Given the description of an element on the screen output the (x, y) to click on. 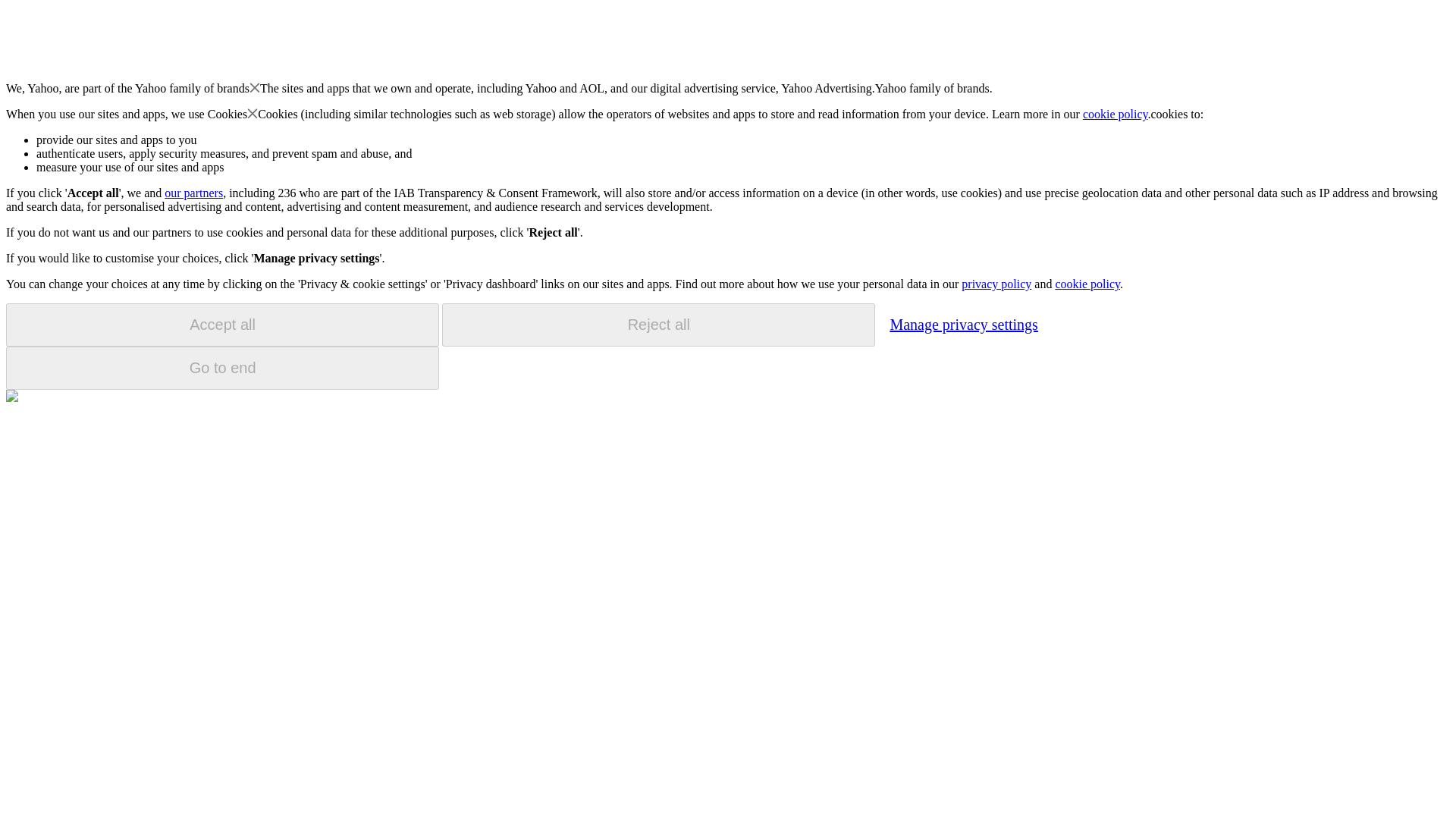
cookie policy (1086, 283)
our partners (193, 192)
cookie policy (1115, 113)
privacy policy (995, 283)
Reject all (658, 324)
Go to end (222, 367)
Accept all (222, 324)
Manage privacy settings (963, 323)
